Given the description of an element on the screen output the (x, y) to click on. 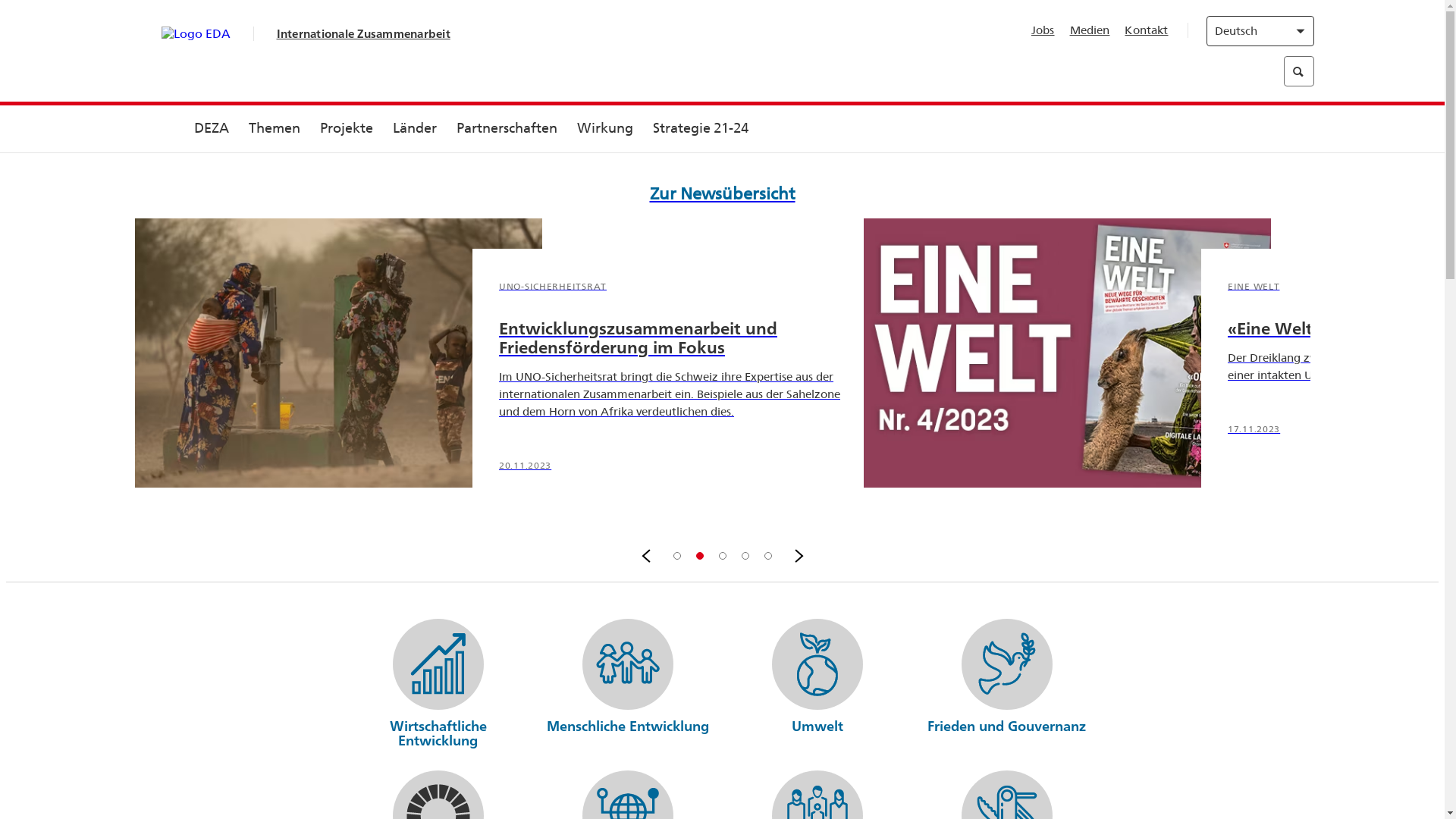
Medien Element type: text (1090, 30)
Partnerschaften Element type: text (505, 128)
Jobs Element type: text (1042, 30)
Wirkung Element type: text (605, 128)
Kontakt Element type: text (1145, 30)
Themen Element type: text (273, 128)
Projekte Element type: text (345, 128)
Strategie 21-24 Element type: text (700, 128)
DEZA Element type: text (210, 128)
Internationale Zusammenarbeit Element type: text (362, 33)
